Given the description of an element on the screen output the (x, y) to click on. 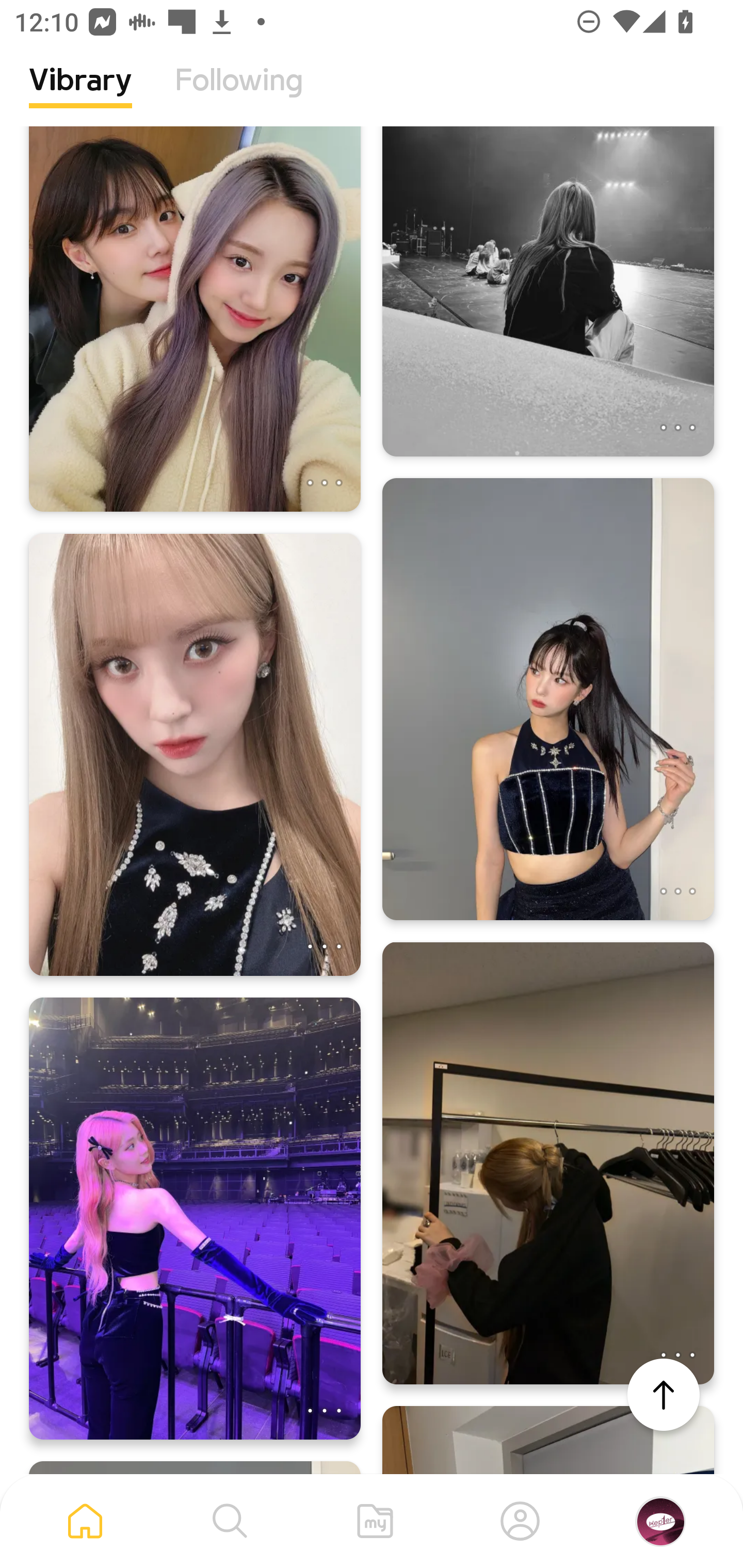
Vibrary (80, 95)
Following (239, 95)
